Given the description of an element on the screen output the (x, y) to click on. 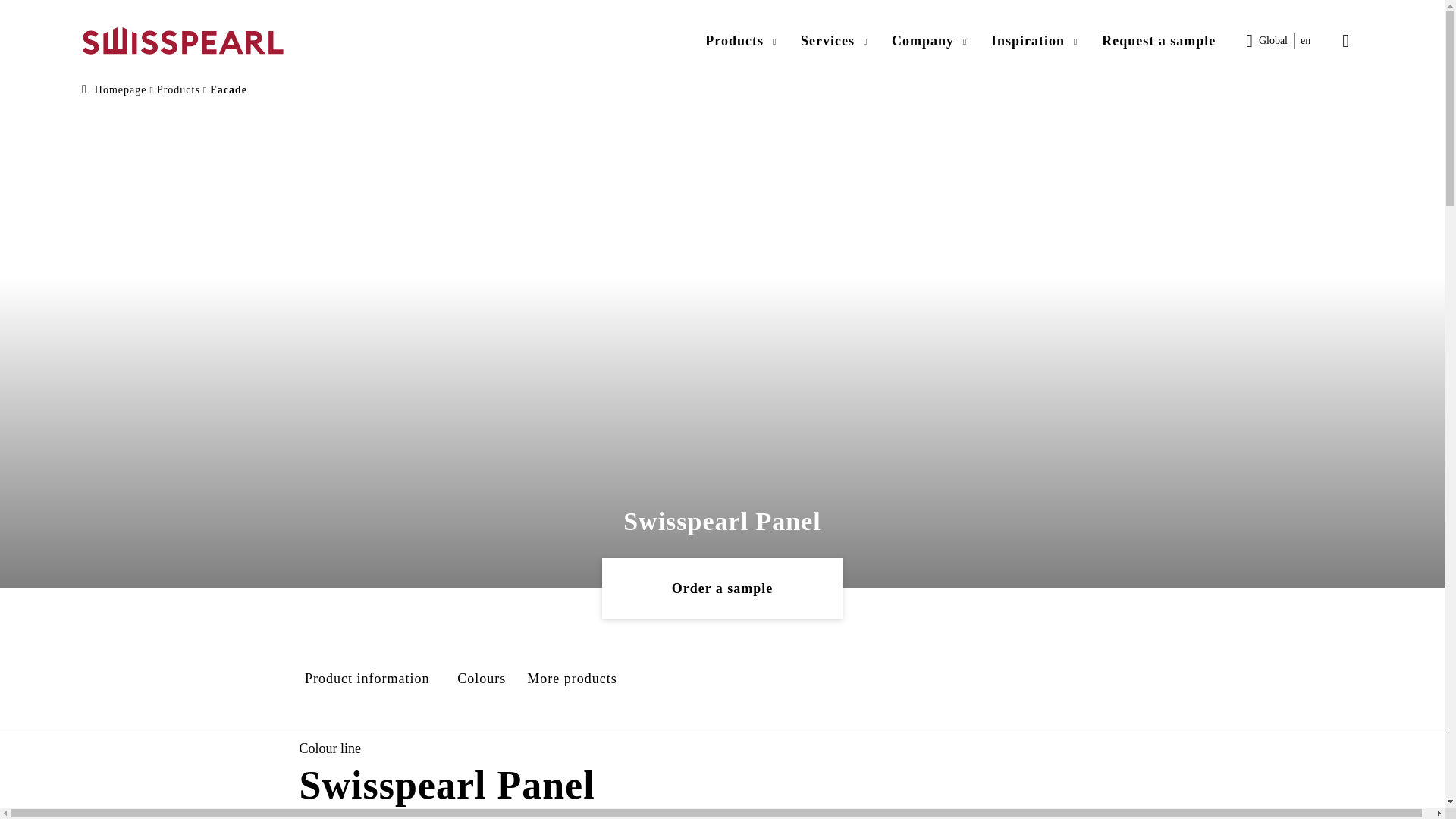
Colours (482, 678)
Product information (371, 678)
More products (575, 678)
